Given the description of an element on the screen output the (x, y) to click on. 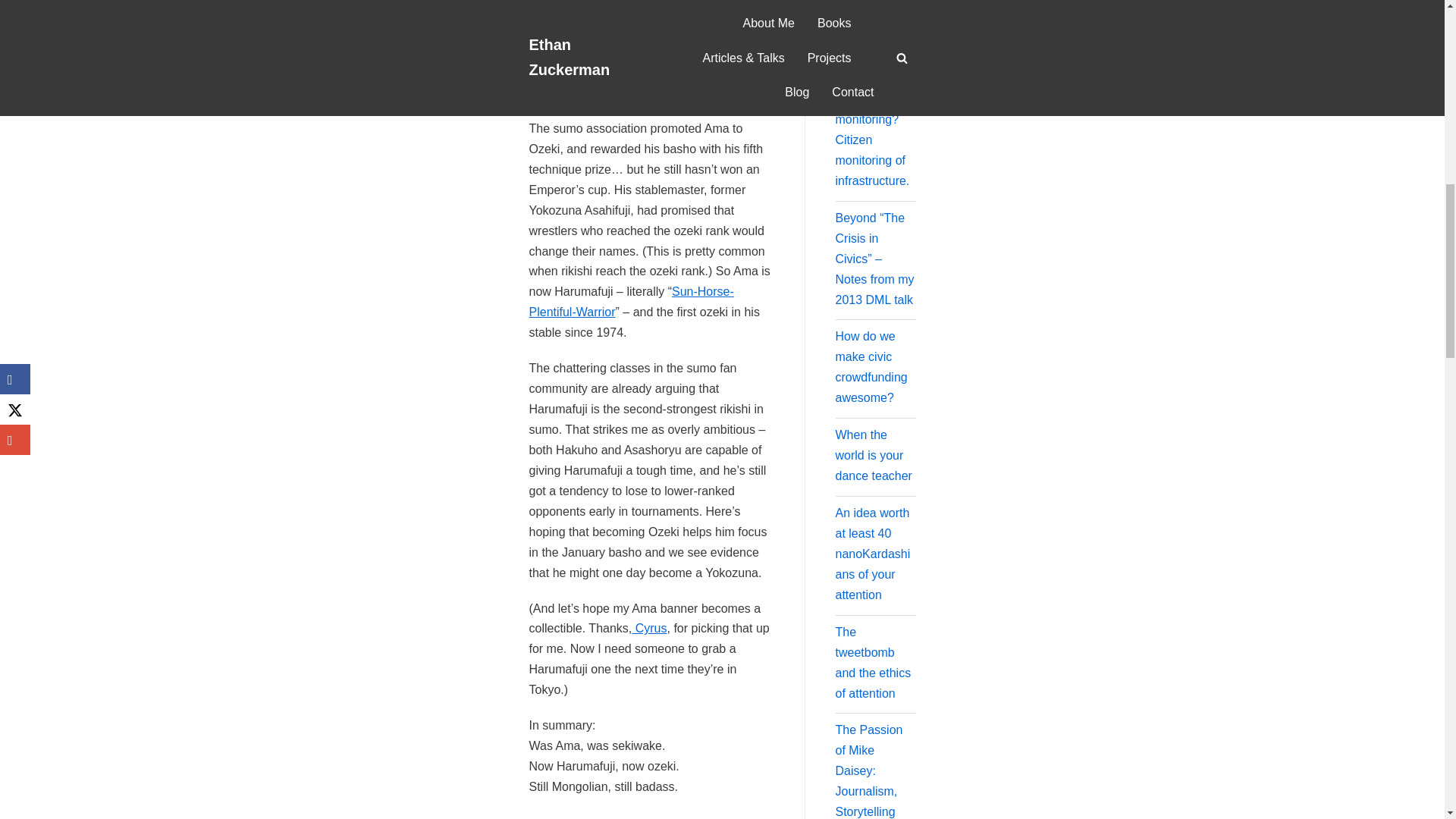
Sun-Horse-Plentiful-Warrior (631, 301)
Cyrus (648, 627)
